Given the description of an element on the screen output the (x, y) to click on. 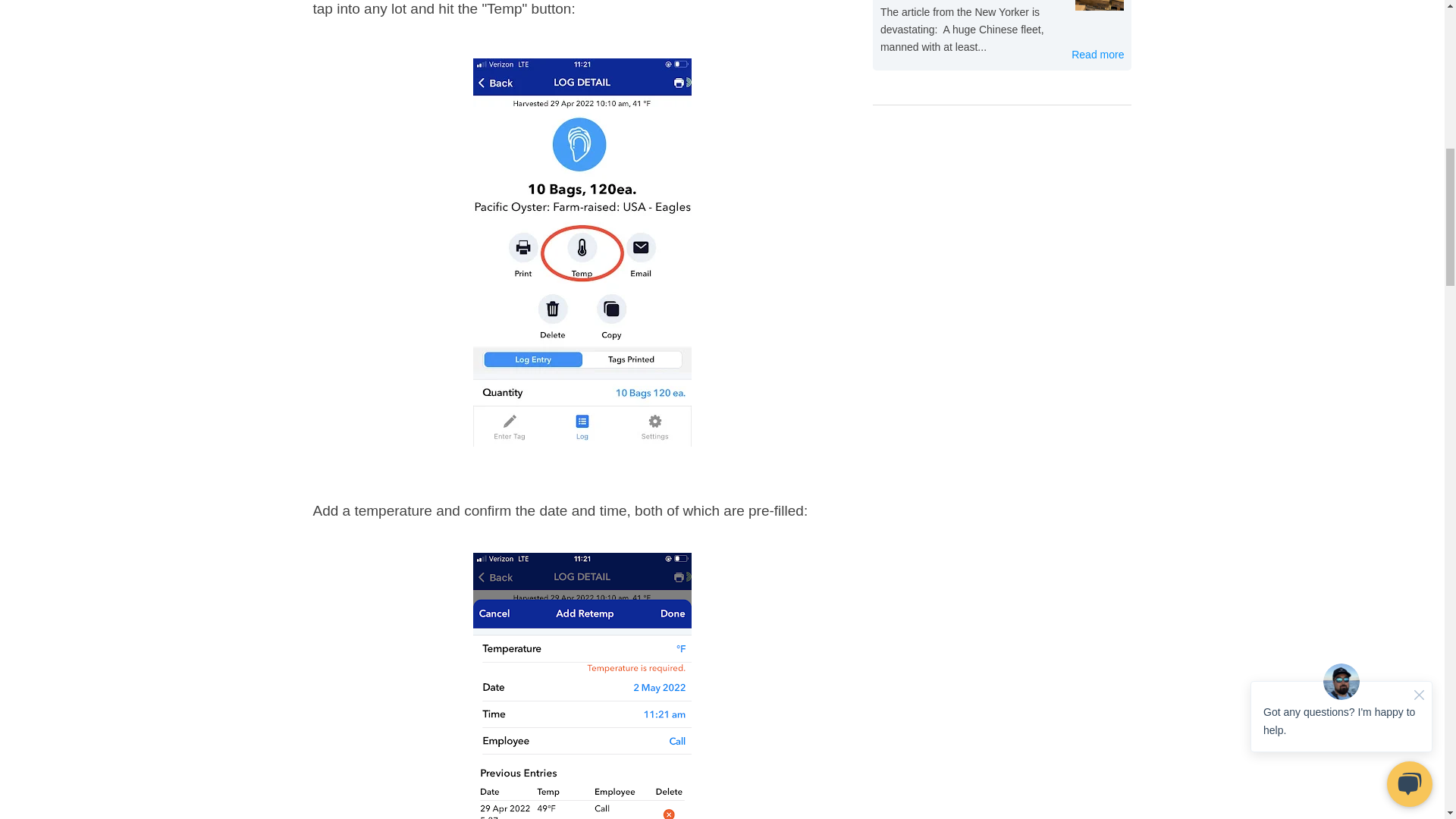
Read more (1097, 54)
